Given the description of an element on the screen output the (x, y) to click on. 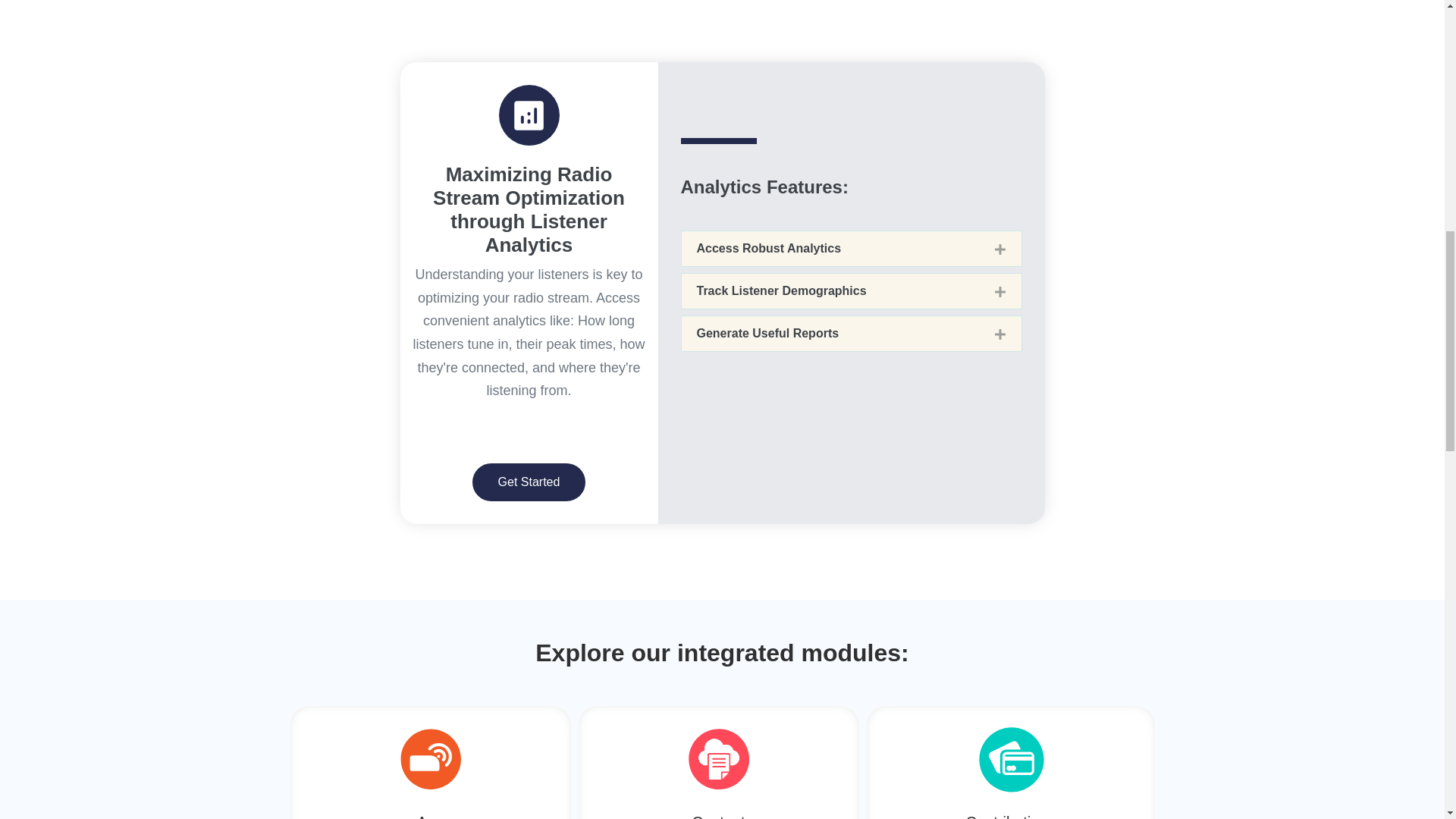
Track Listener Demographics (780, 290)
Generate Useful Reports (766, 332)
Access Robust Analytics (768, 247)
Get Started (528, 482)
